Given the description of an element on the screen output the (x, y) to click on. 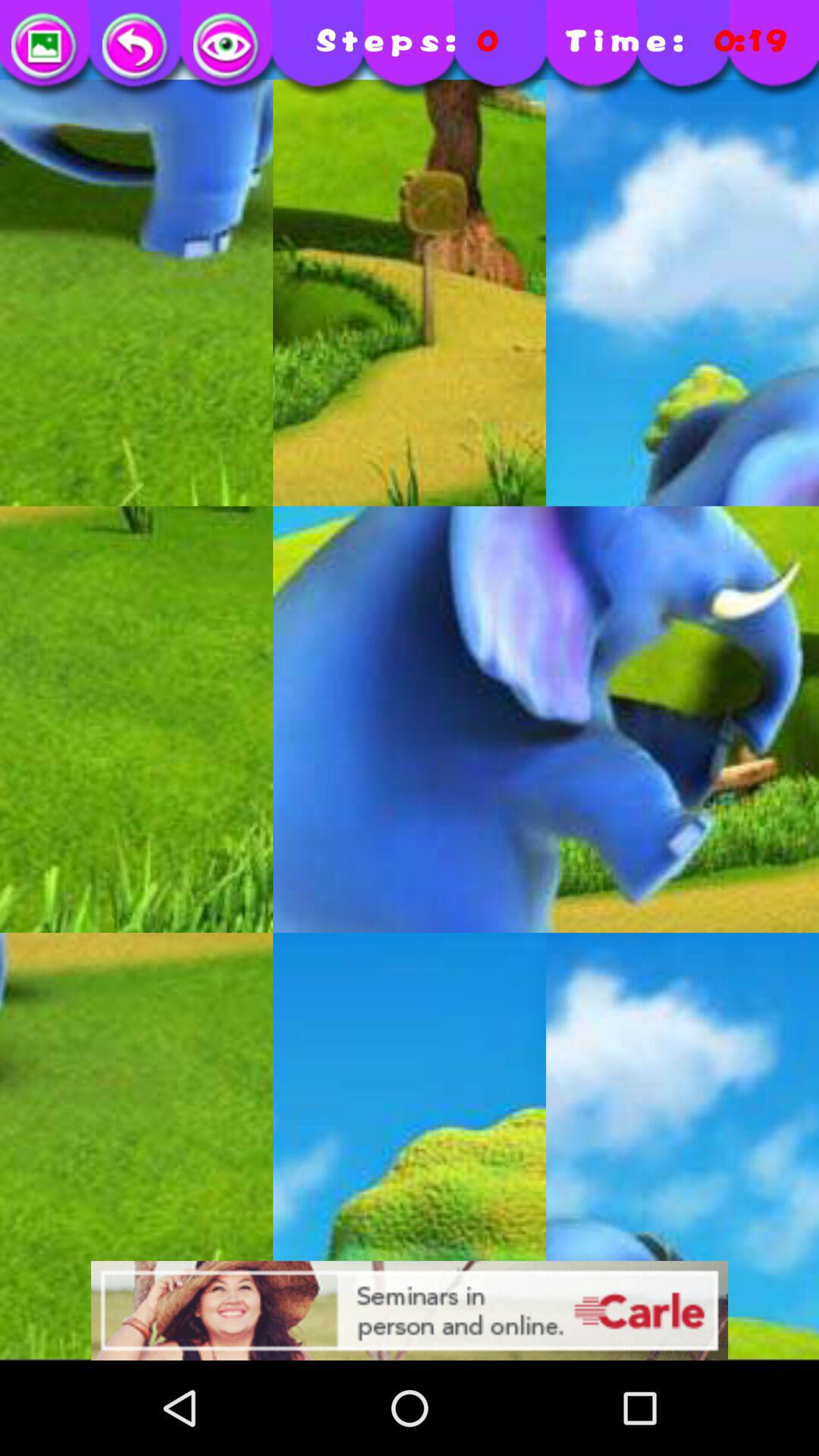
click the image (227, 47)
